Given the description of an element on the screen output the (x, y) to click on. 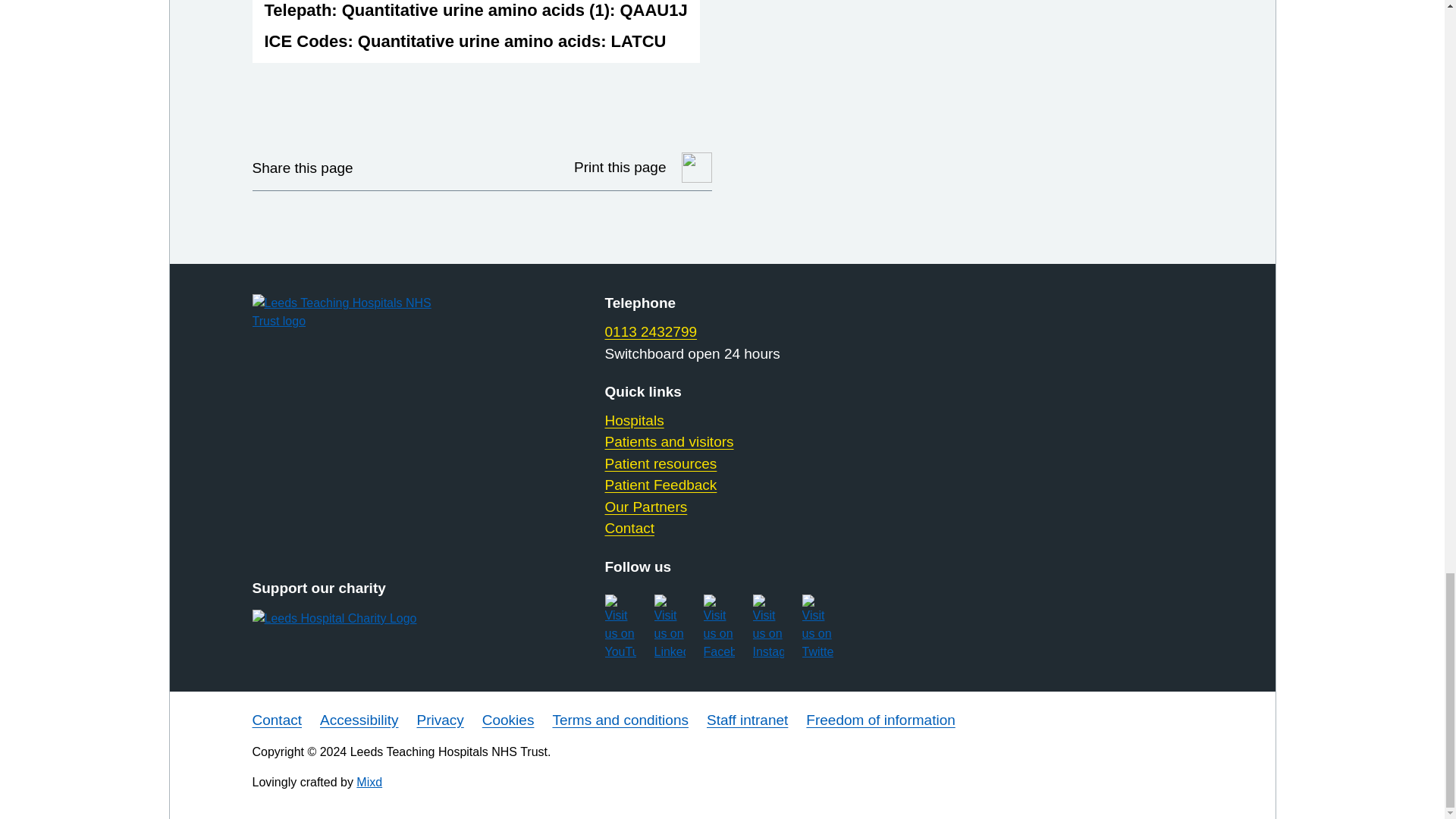
Share via Email (460, 167)
Leeds Teaching Hospitals NHS Trust Homepage (359, 312)
Leeds Hospital Charity (359, 618)
Share on Facebook (422, 167)
